Given the description of an element on the screen output the (x, y) to click on. 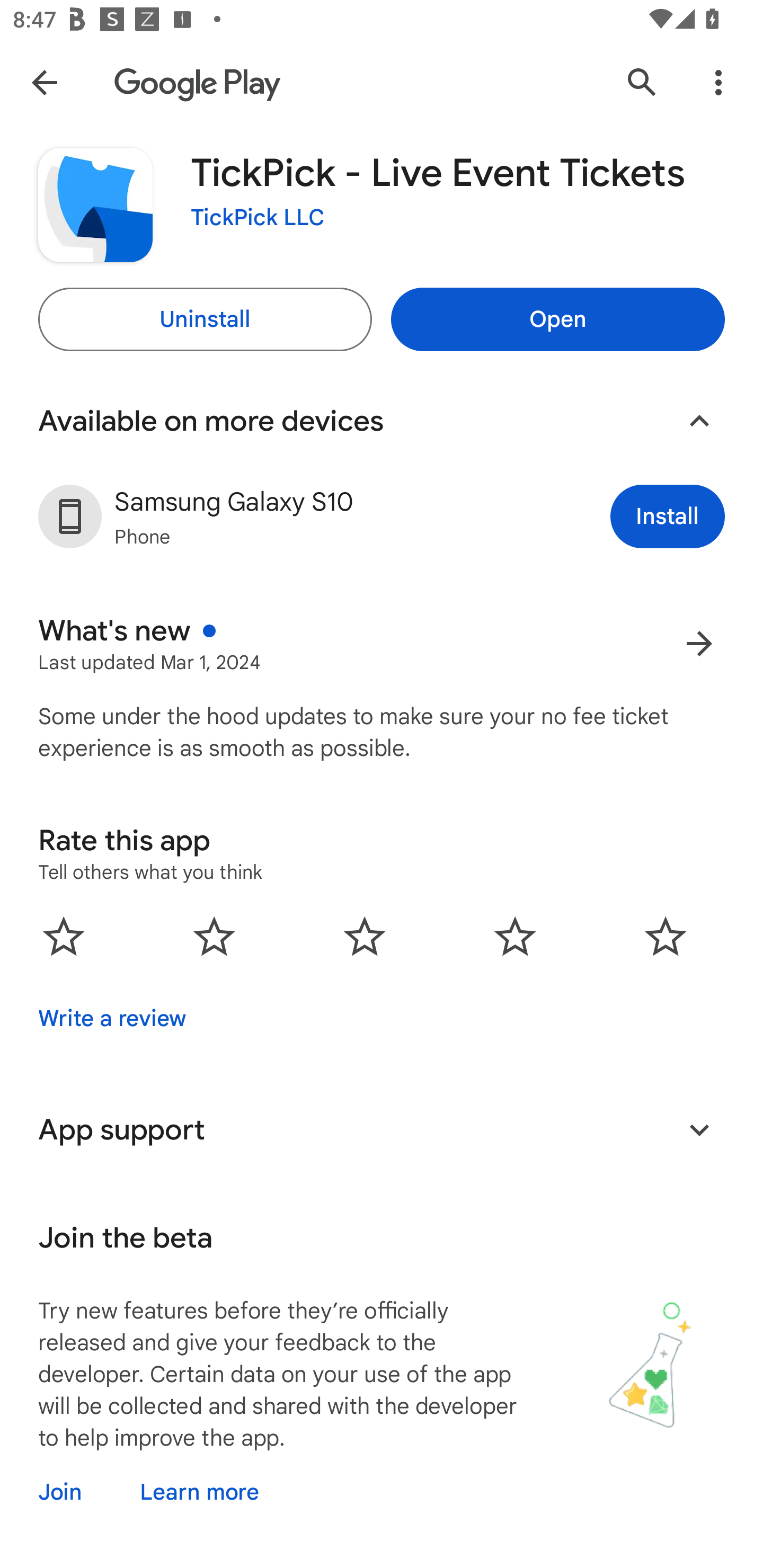
Navigate up (44, 81)
Search Google Play (642, 81)
More Options (718, 81)
TickPick LLC (257, 217)
Uninstall (205, 318)
Open (557, 318)
Available on more devices Collapse (381, 420)
Collapse (699, 420)
Install (667, 516)
More results for What's new (699, 643)
0.0 (364, 935)
Write a review (112, 1018)
App support Expand (381, 1129)
Expand (699, 1129)
Join (76, 1491)
Learn more (199, 1491)
